Given the description of an element on the screen output the (x, y) to click on. 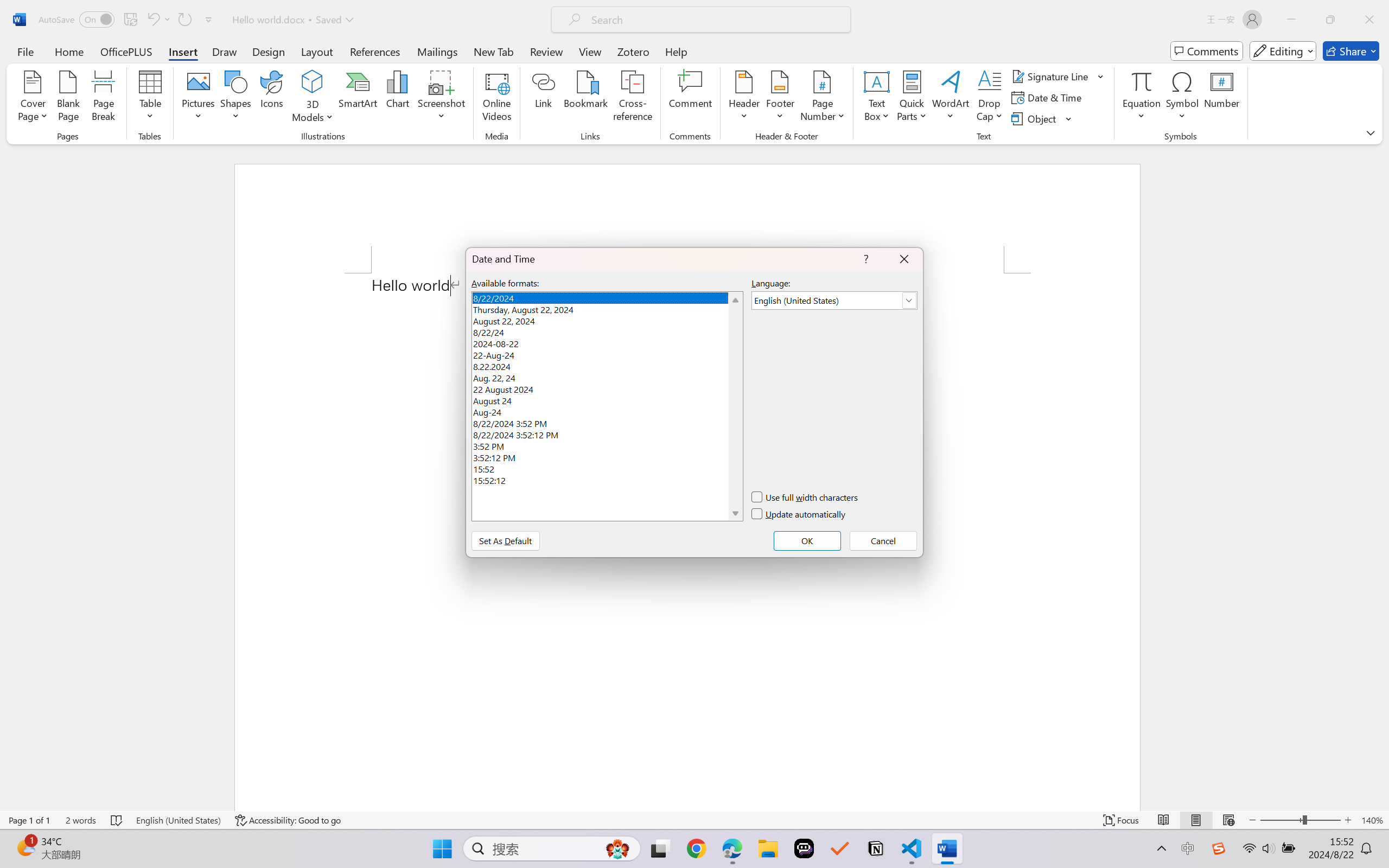
Accessibility Checker Accessibility: Good to go (288, 819)
22 August 2024 (606, 388)
Footer (780, 97)
AutoSave (76, 19)
New Tab (493, 51)
August 22, 2024 (606, 319)
Page Break (103, 97)
Drop Cap (989, 97)
3:52 PM (606, 444)
Print Layout (1196, 819)
View (589, 51)
